Given the description of an element on the screen output the (x, y) to click on. 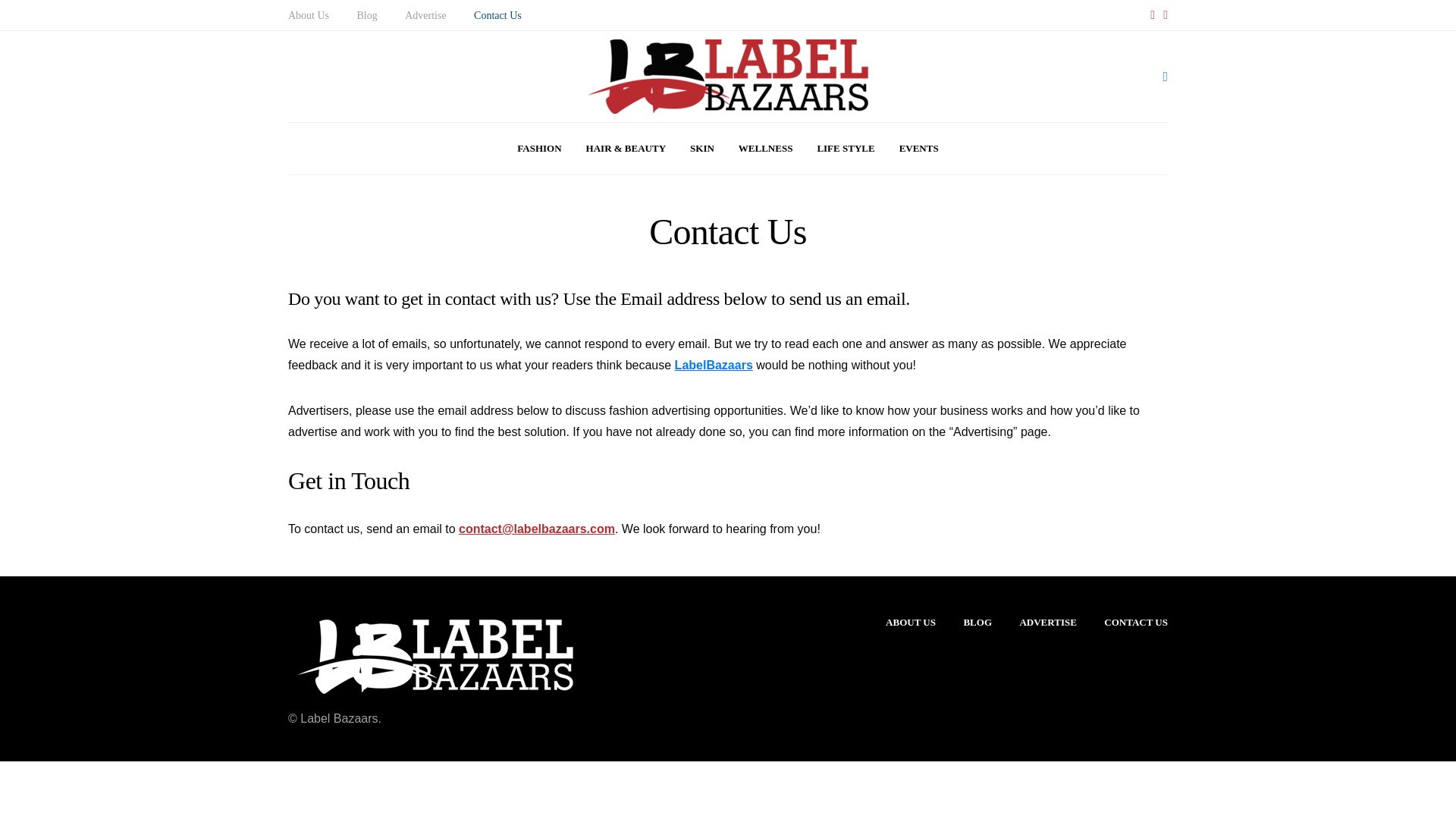
BLOG (976, 622)
LabelBazaars (713, 364)
Contact Us (497, 15)
ADVERTISE (1047, 622)
Advertise (424, 15)
ABOUT US (910, 622)
CONTACT US (1135, 622)
WELLNESS (765, 148)
Blog (366, 15)
LIFE STYLE (845, 148)
